Given the description of an element on the screen output the (x, y) to click on. 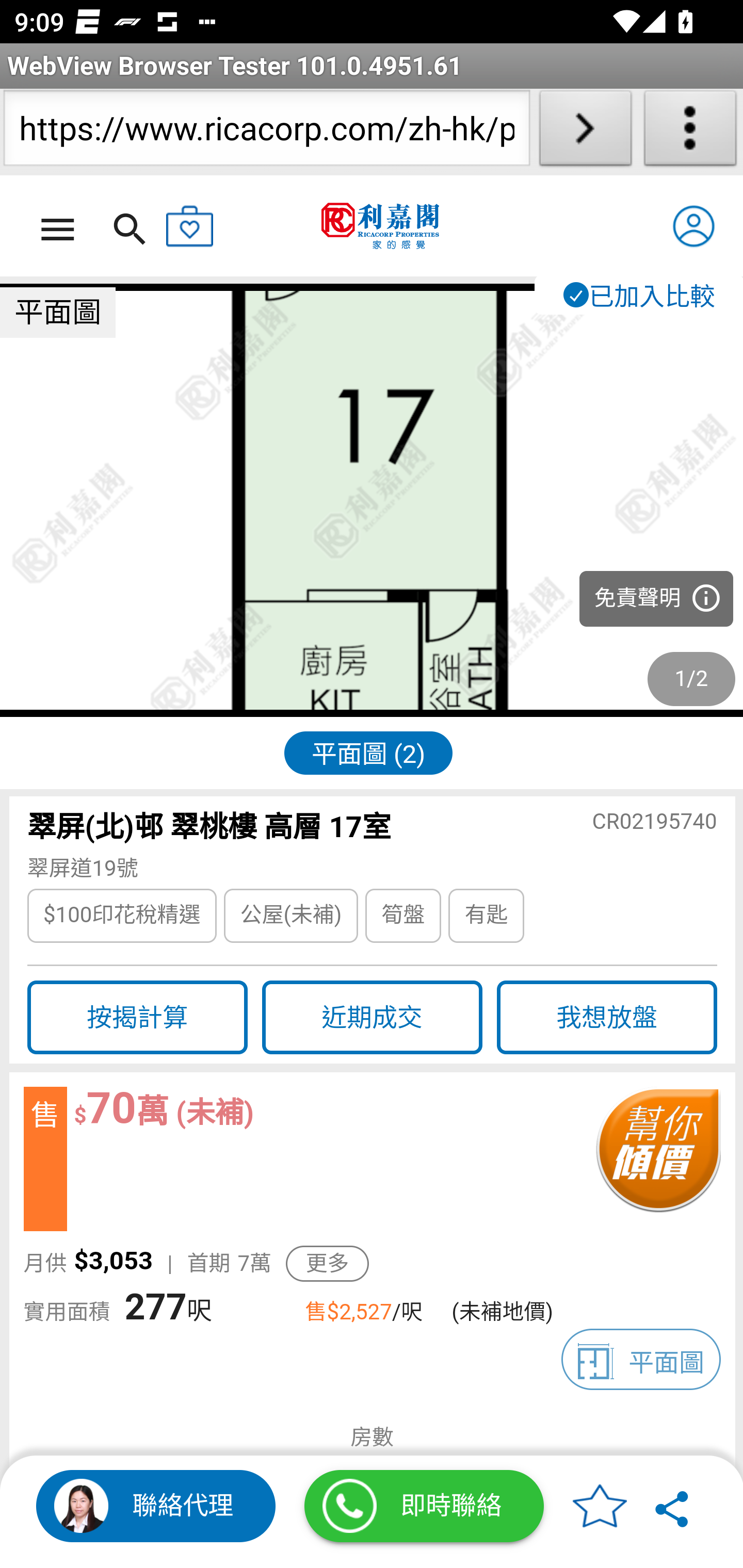
Load URL (585, 132)
About WebView (690, 132)
checked 已加入比較 (637, 294)
image 免責聲明 (371, 500)
免責聲明 (656, 599)
平面圖 (2) (368, 752)
按揭計算 (136, 1018)
近期成交 (371, 1018)
我想放盤 (606, 1018)
negotiation (657, 1159)
更多 (327, 1263)
平面圖 (640, 1359)
Joey Hu 聯絡代理 (156, 1505)
whatsapp 即時聯絡 (424, 1505)
Share button (672, 1505)
